Given the description of an element on the screen output the (x, y) to click on. 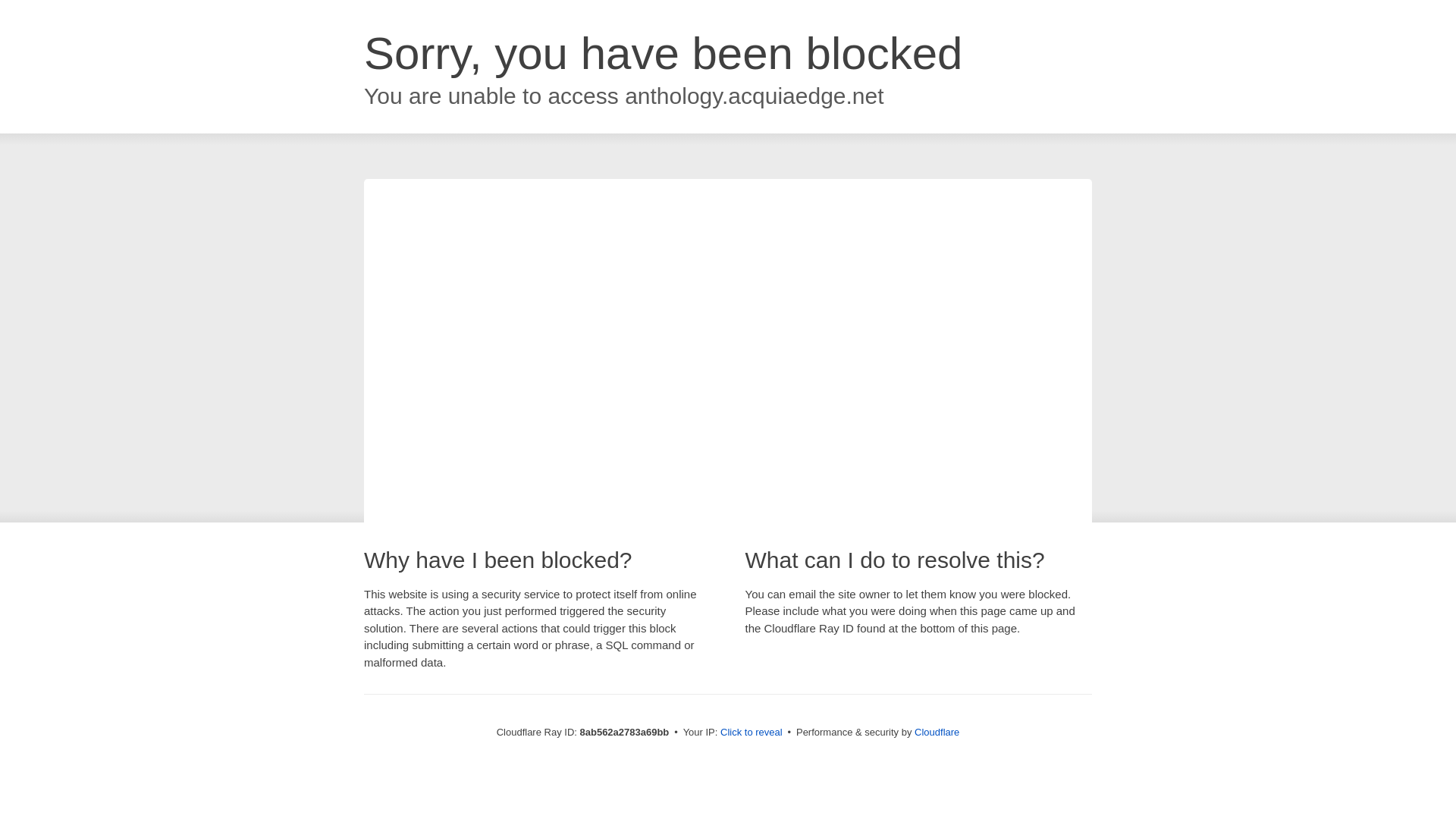
Cloudflare (936, 731)
Click to reveal (751, 732)
